Given the description of an element on the screen output the (x, y) to click on. 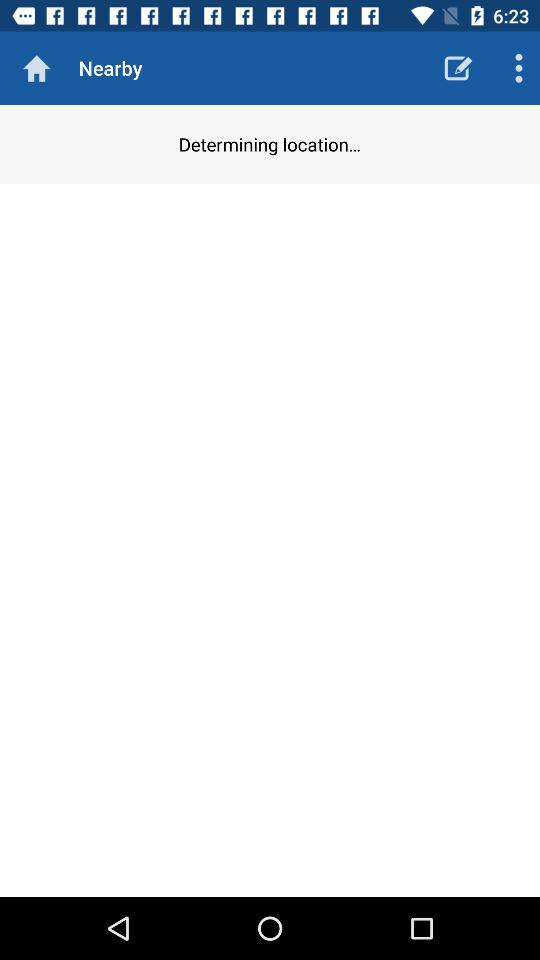
go to home (36, 68)
